Given the description of an element on the screen output the (x, y) to click on. 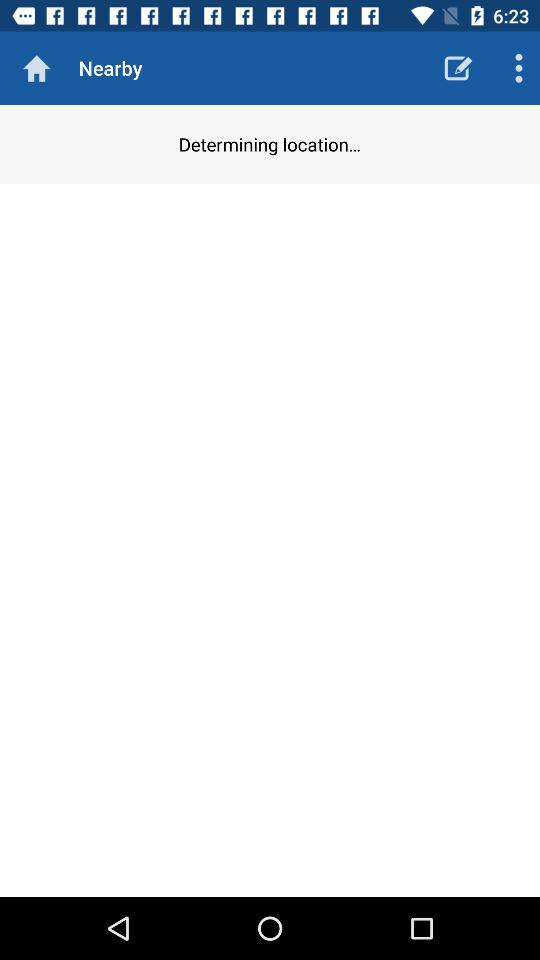
go to home (36, 68)
